Given the description of an element on the screen output the (x, y) to click on. 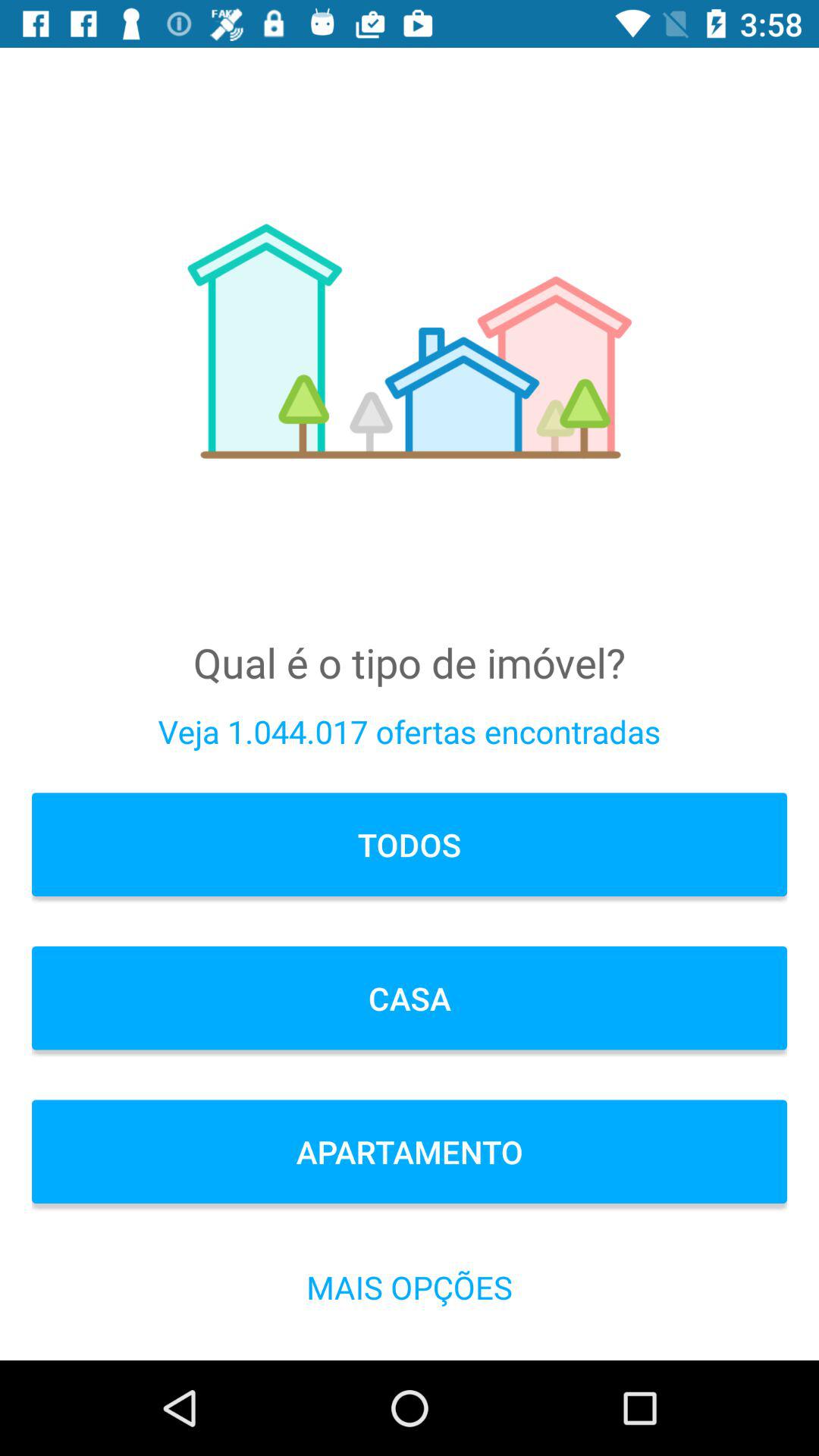
swipe to apartamento item (409, 1151)
